Given the description of an element on the screen output the (x, y) to click on. 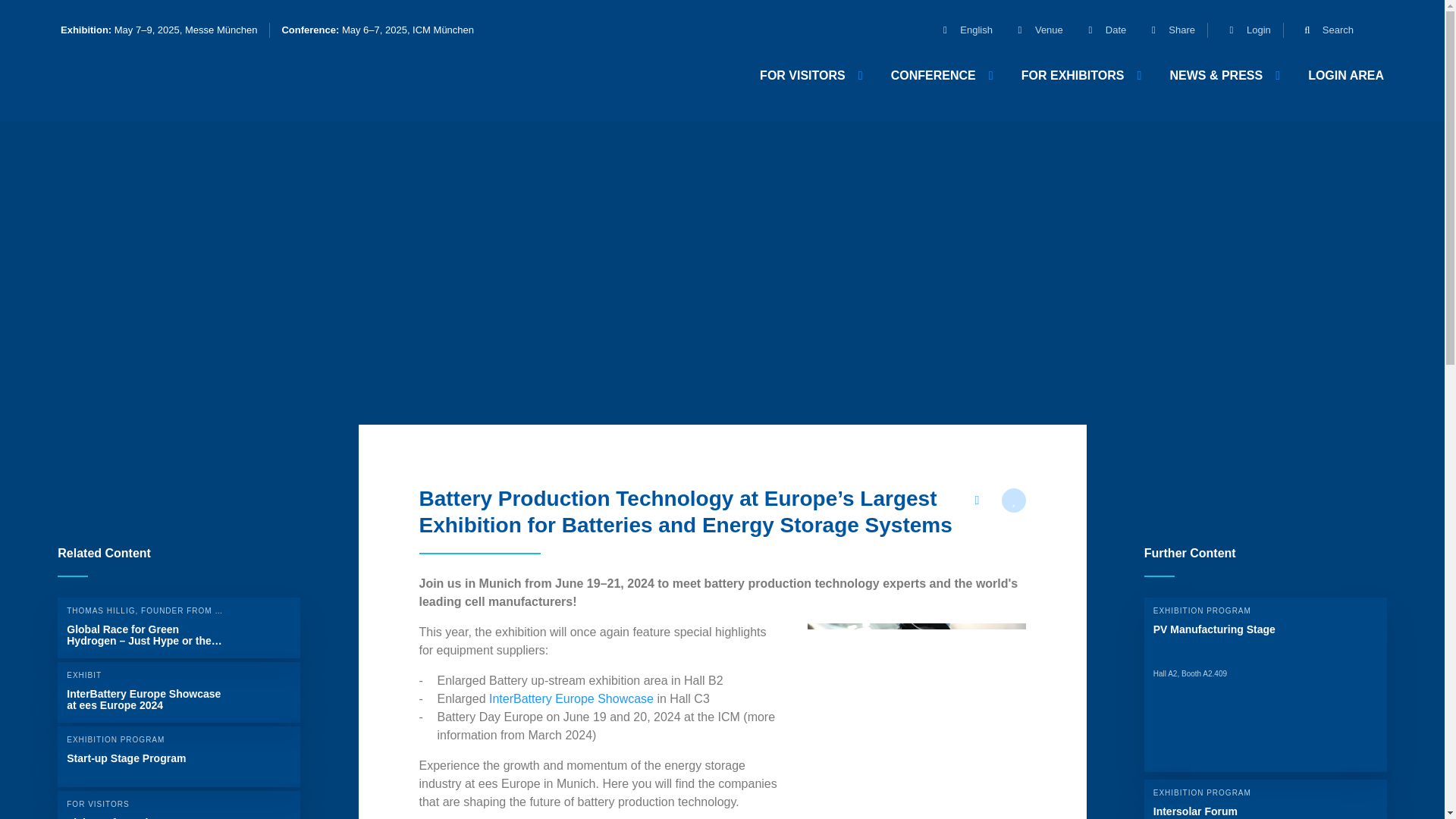
Date (1100, 30)
Share (1166, 30)
Login (1243, 30)
Share this page (975, 500)
FOR VISITORS (810, 75)
Venue (1033, 30)
Date (1100, 30)
Share (1166, 30)
Login (1243, 30)
InterBattery Europe Showcase (571, 698)
